Given the description of an element on the screen output the (x, y) to click on. 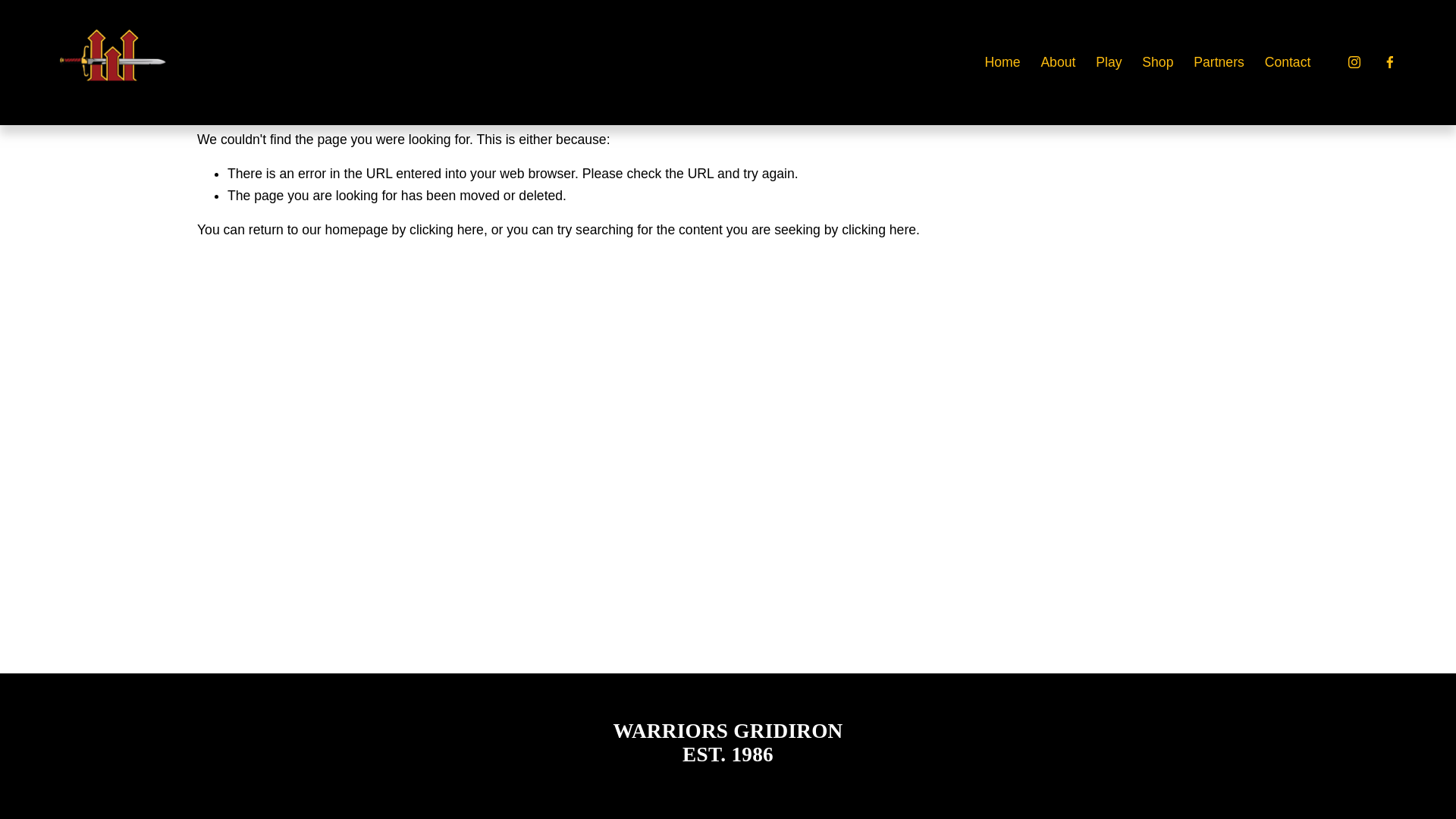
Shop (1157, 62)
Home (1002, 62)
Play (1108, 62)
About (1058, 62)
Partners (1218, 62)
Contact (1288, 62)
